Given the description of an element on the screen output the (x, y) to click on. 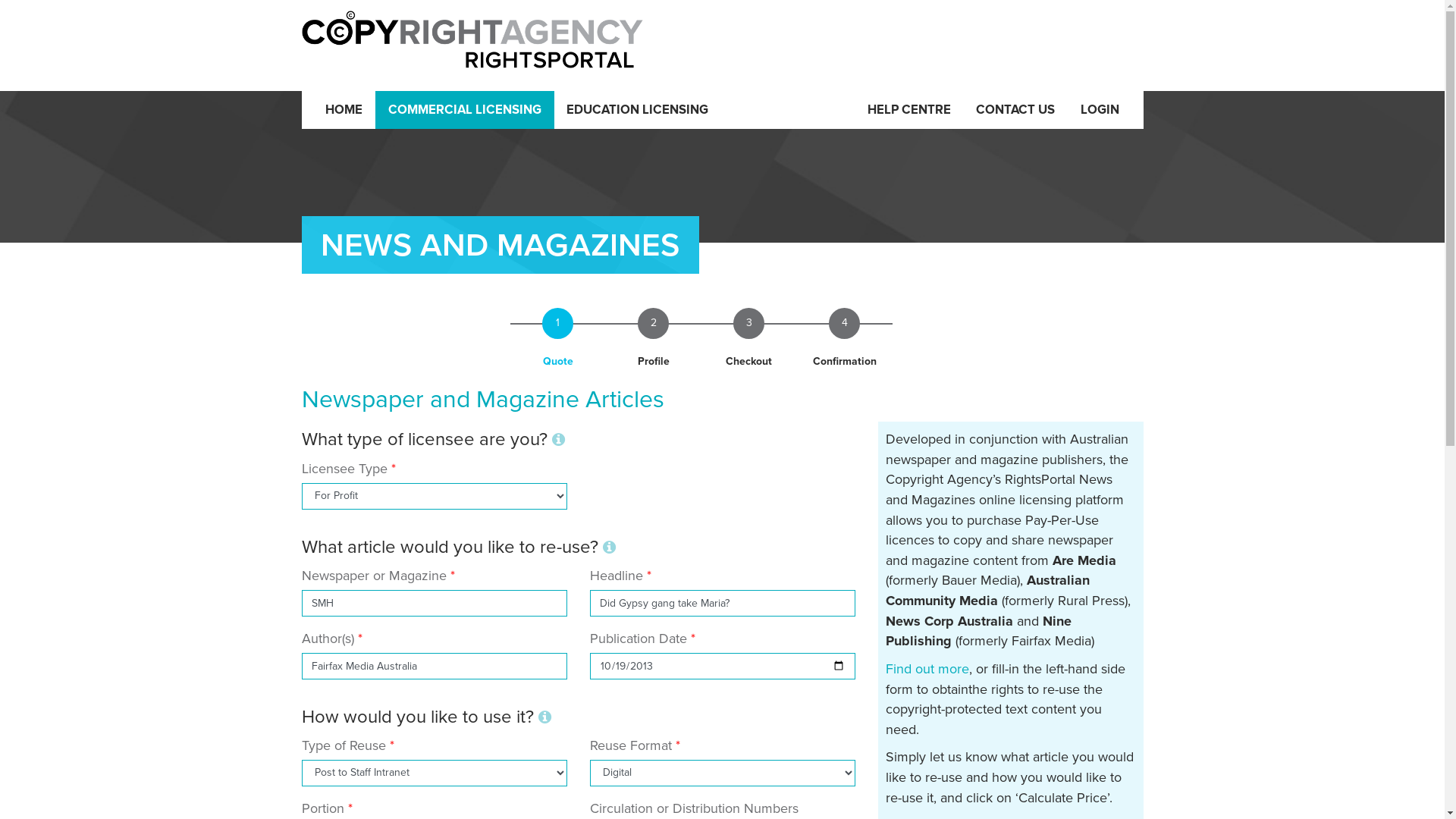
Find out more Element type: text (927, 668)
HOME Element type: text (343, 109)
COMMERCIAL LICENSING Element type: text (464, 109)
HELP CENTRE Element type: text (908, 109)
CONTACT US Element type: text (1015, 109)
EDUCATION LICENSING Element type: text (637, 109)
LOGIN Element type: text (1099, 109)
